Given the description of an element on the screen output the (x, y) to click on. 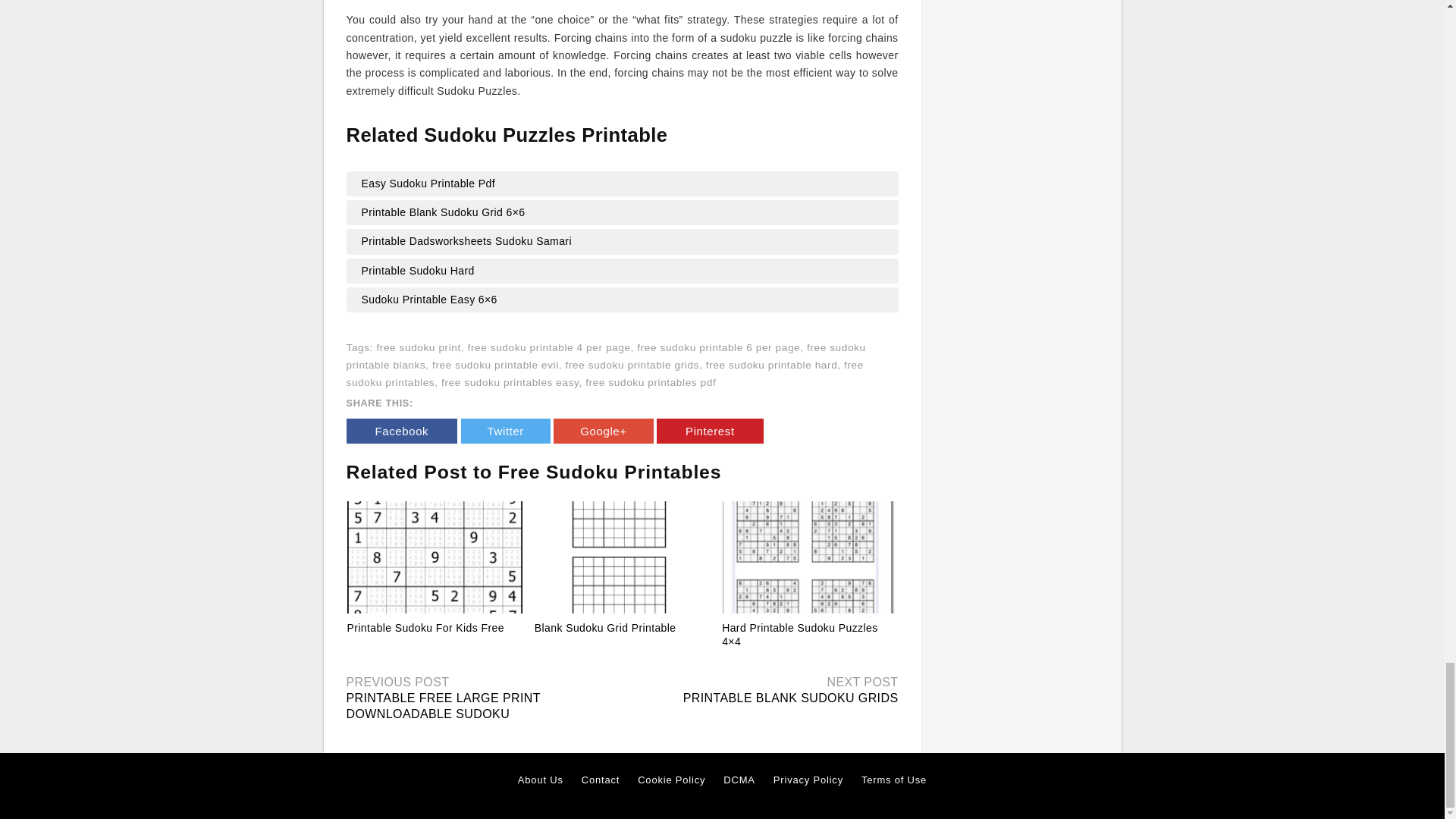
Facebook (401, 430)
free sudoku printable grids (632, 365)
Blank Sudoku Grid Printable (622, 557)
Printable Sudoku Hard (621, 271)
free sudoku printable evil (495, 365)
Twitter (505, 430)
free sudoku printable 6 per page (718, 347)
Printable Sudoku For Kids Free (434, 557)
Printable Dadsworksheets Sudoku Samari (621, 240)
free sudoku printables (604, 373)
